Given the description of an element on the screen output the (x, y) to click on. 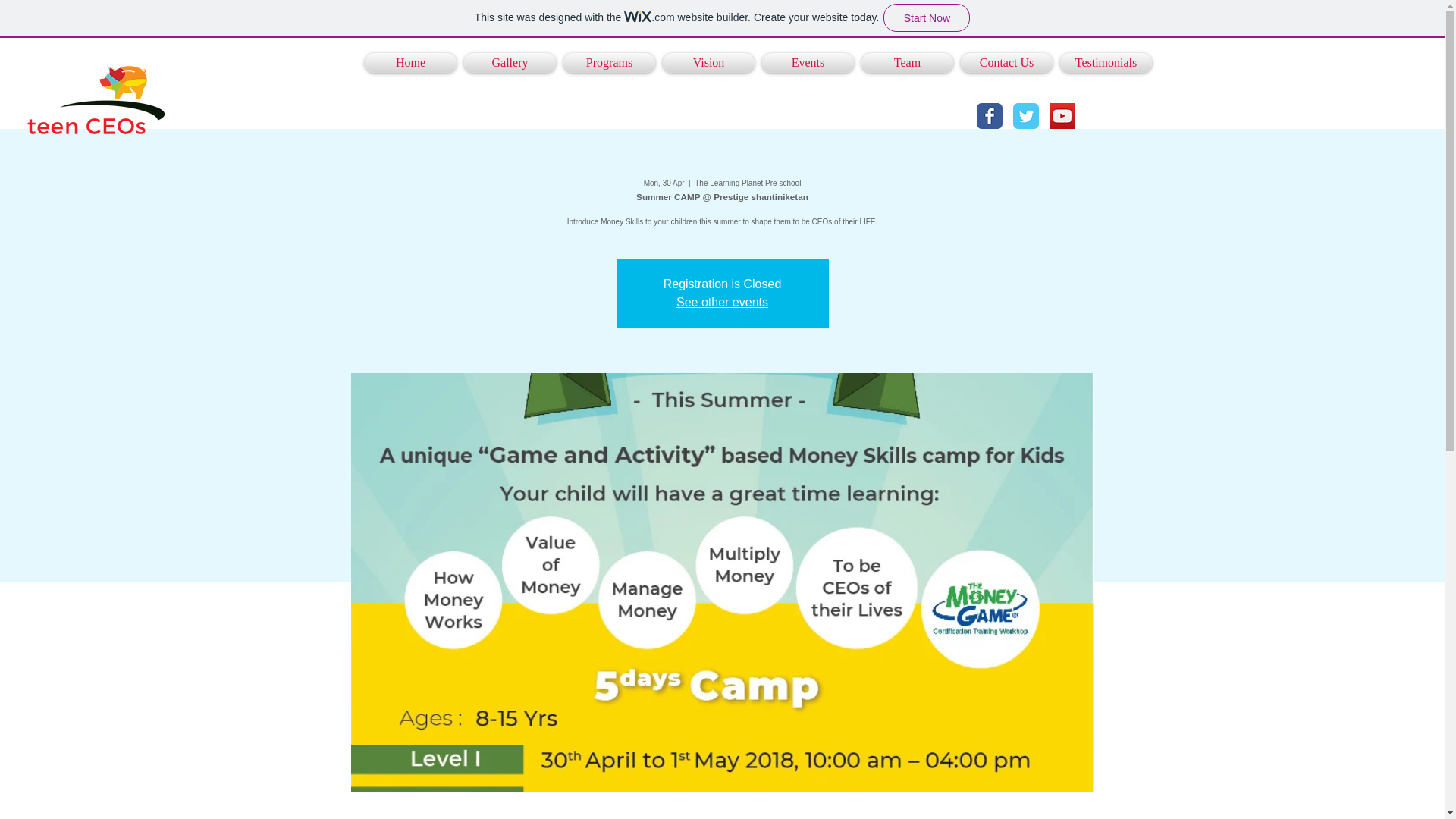
Events (807, 62)
Team (906, 62)
Vision (708, 62)
Home (410, 62)
Programs (609, 62)
Gallery (509, 62)
Testimonials (1106, 62)
See other events (722, 301)
Contact Us (1006, 62)
